Given the description of an element on the screen output the (x, y) to click on. 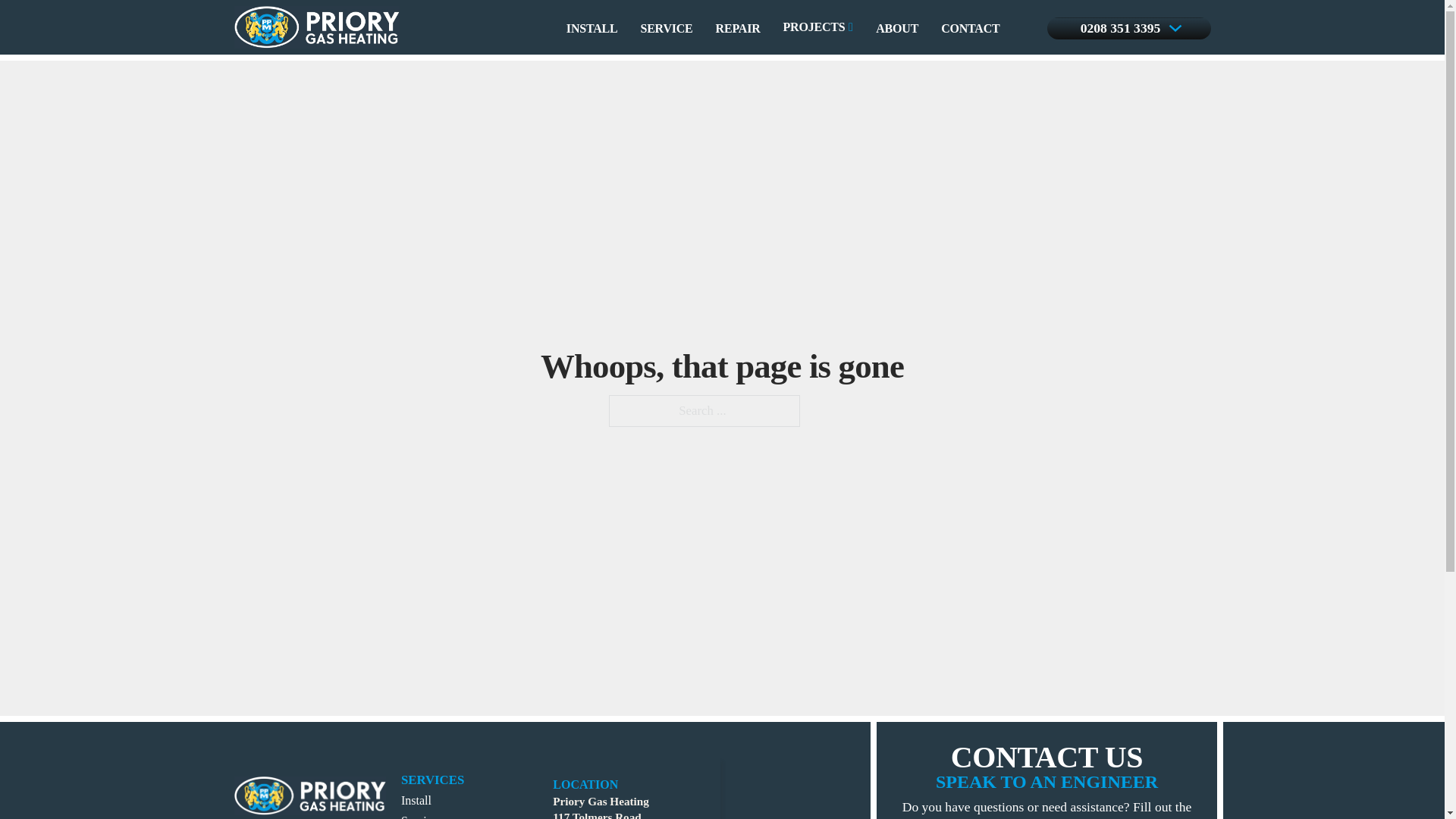
Service (419, 816)
INSTALL (591, 28)
ABOUT (897, 28)
SERVICE (666, 28)
CONTACT (969, 28)
REPAIR (738, 28)
Install (415, 799)
